Given the description of an element on the screen output the (x, y) to click on. 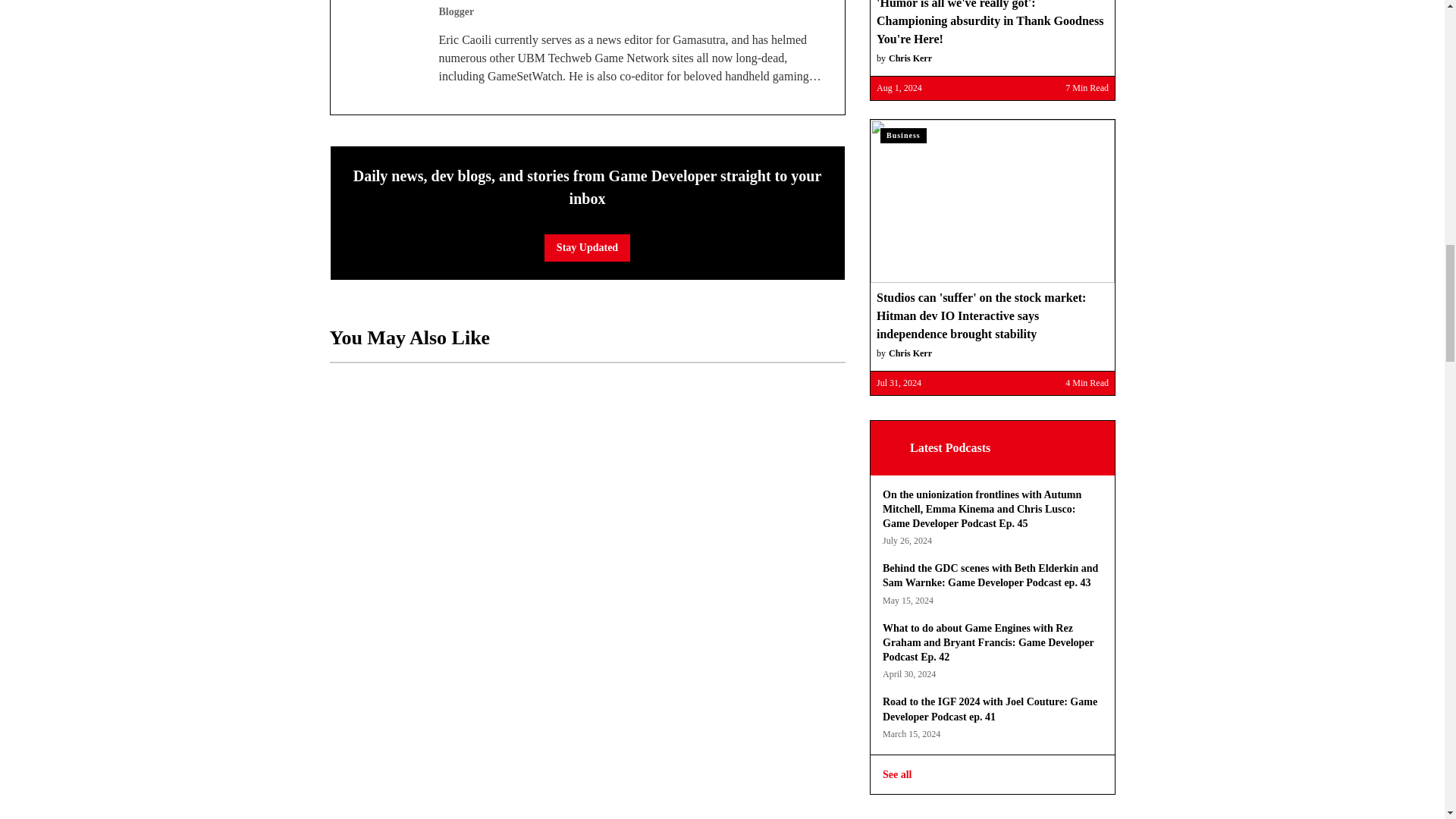
Eric Caoili (384, 26)
